Given the description of an element on the screen output the (x, y) to click on. 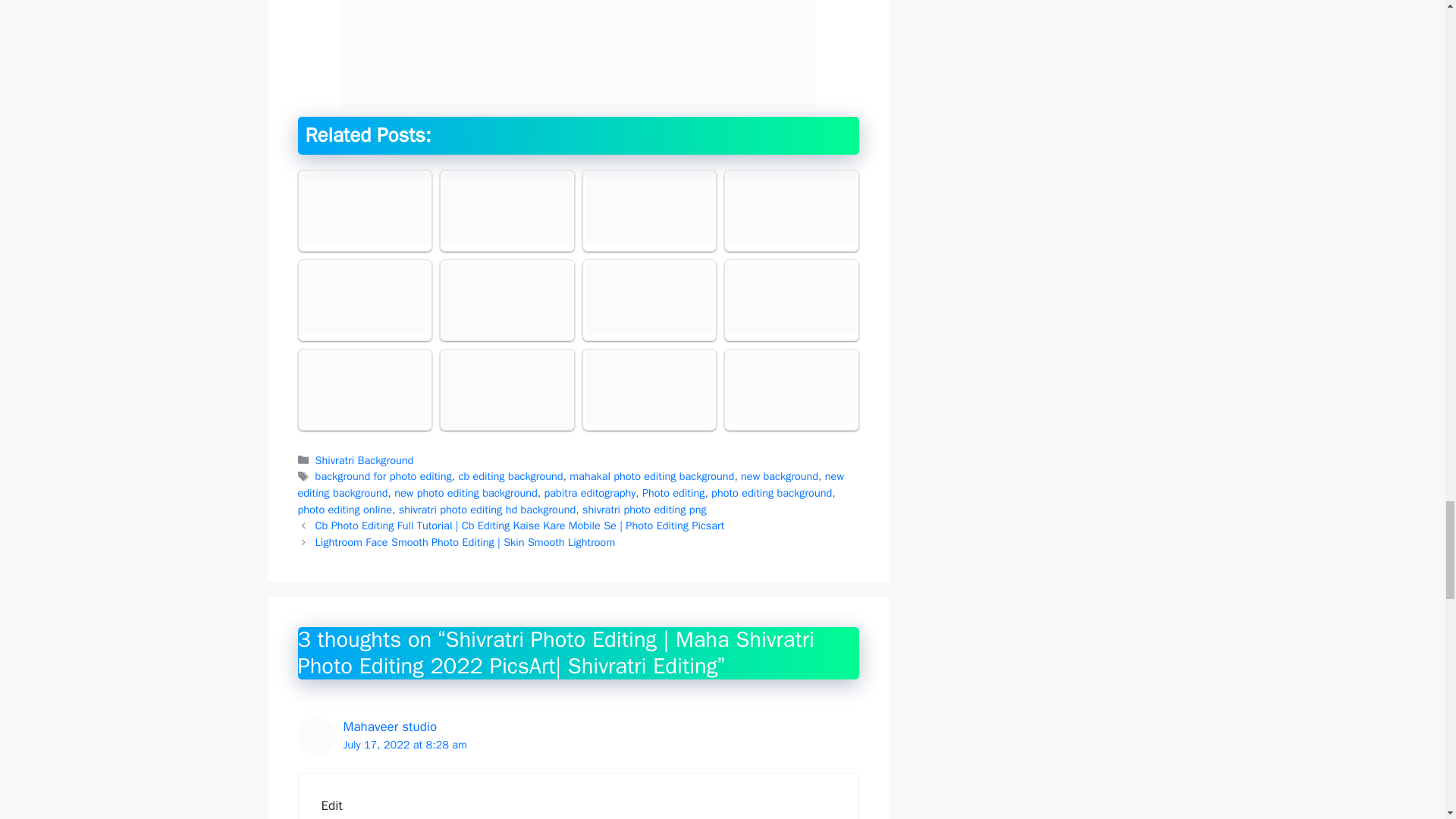
shivratri photo editing png (644, 509)
mahakal photo editing background (651, 476)
new editing background (570, 484)
cb editing background (510, 476)
background for photo editing (383, 476)
pabitra editography (590, 492)
shivratri photo editing hd background (487, 509)
photo editing online (344, 509)
new photo editing background (465, 492)
photo editing background (771, 492)
Aqua and Orange Preset Download - PABITRA EDITOGRAPHY (364, 208)
Shivratri Background (364, 459)
new background (779, 476)
